Given the description of an element on the screen output the (x, y) to click on. 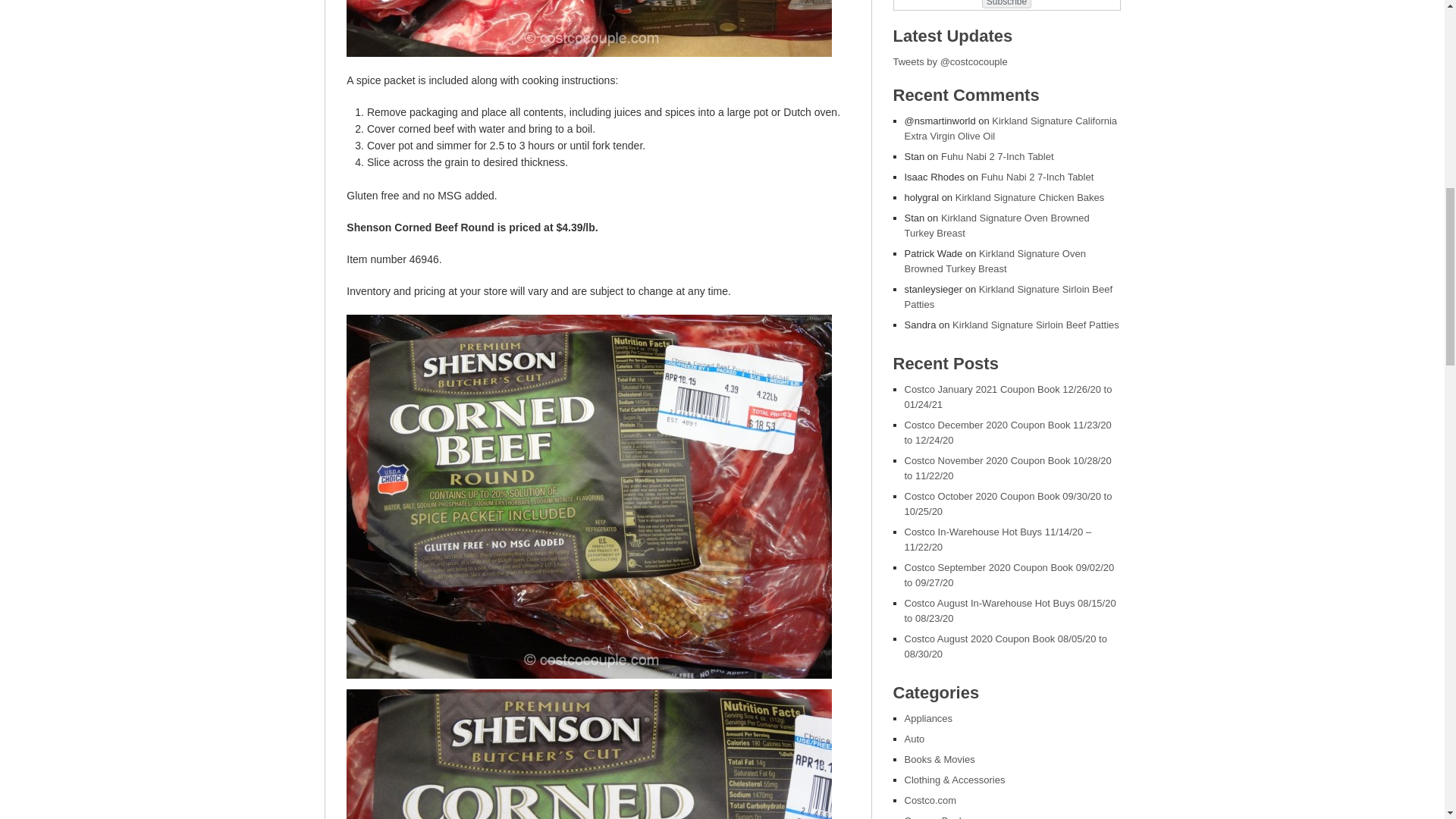
Shenson Corned Beef Round Costco (588, 28)
Appliances (928, 717)
Kirkland Signature Oven Browned Turkey Breast (996, 225)
Fuhu Nabi 2 7-Inch Tablet (1037, 176)
Kirkland Signature Chicken Bakes (1030, 197)
Kirkland Signature California Extra Virgin Olive Oil (1010, 128)
Kirkland Signature Sirloin Beef Patties (1008, 296)
Subscribe (1005, 4)
Fuhu Nabi 2 7-Inch Tablet (997, 156)
Kirkland Signature Oven Browned Turkey Breast (994, 261)
Shenson Corned Beef Round Costco (588, 754)
Subscribe (1005, 4)
Kirkland Signature Sirloin Beef Patties (1035, 324)
